Given the description of an element on the screen output the (x, y) to click on. 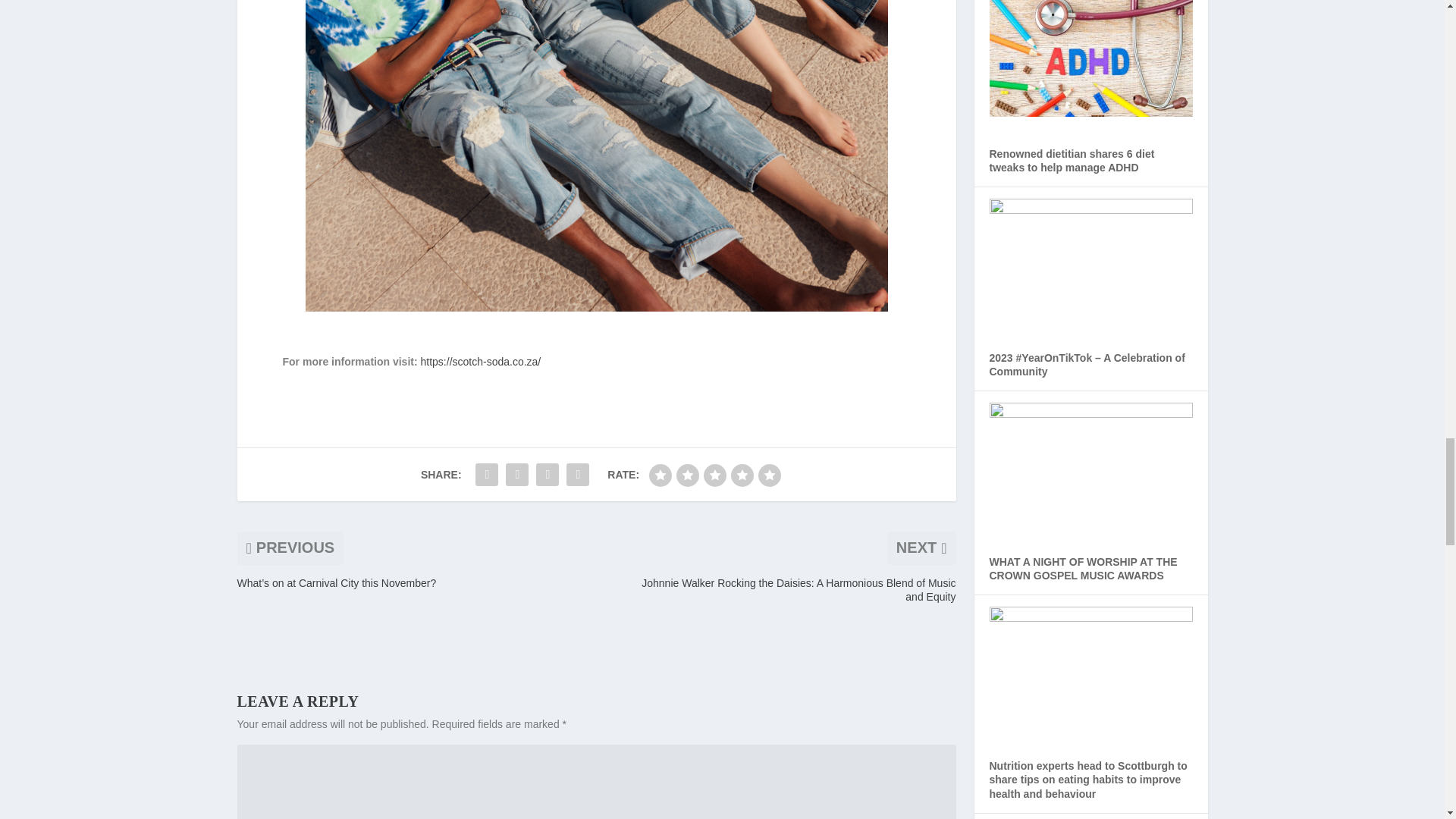
poor (687, 475)
bad (660, 475)
regular (714, 475)
good (742, 475)
gorgeous (769, 475)
